Given the description of an element on the screen output the (x, y) to click on. 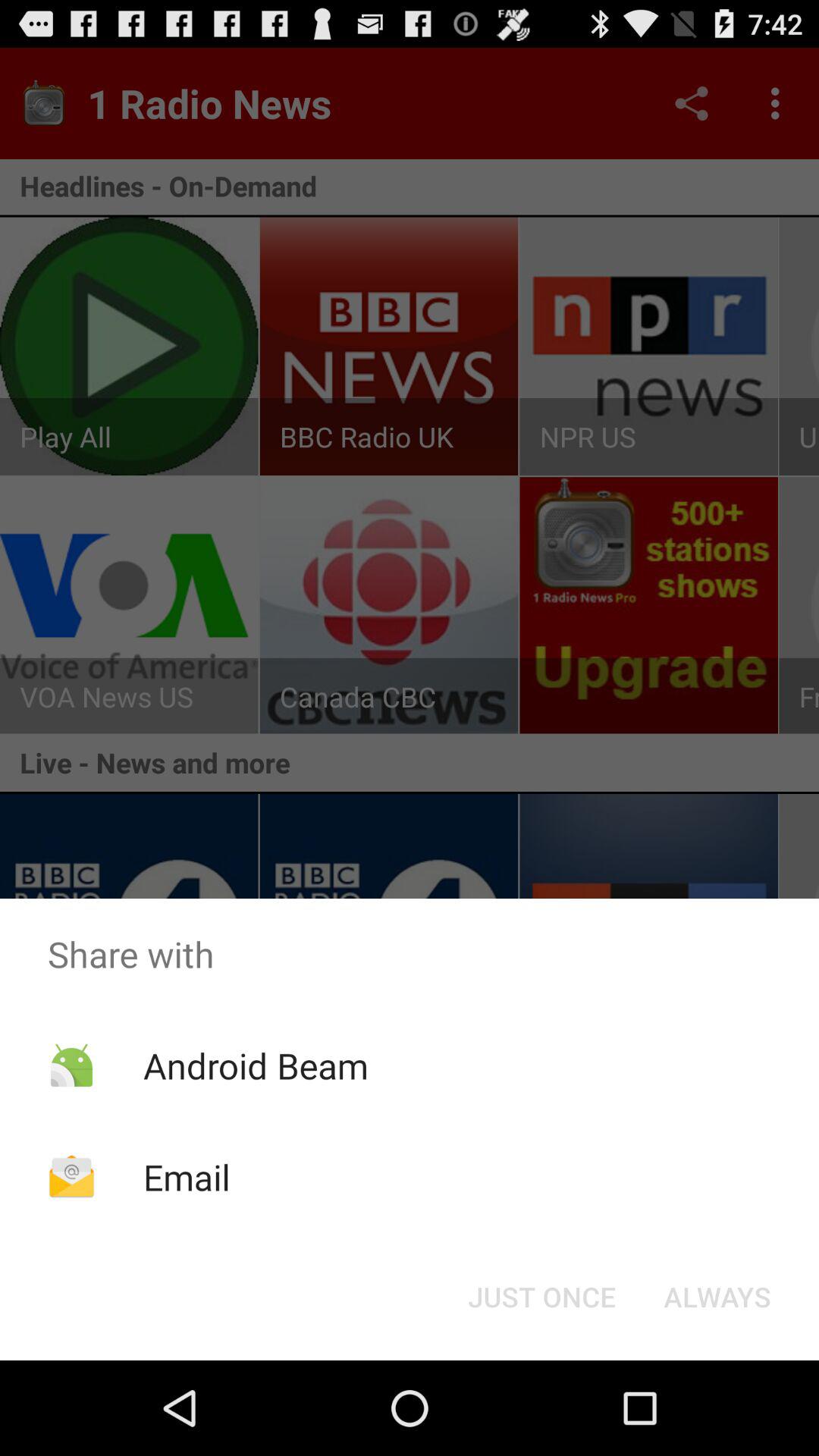
turn on the icon below the share with (541, 1296)
